Given the description of an element on the screen output the (x, y) to click on. 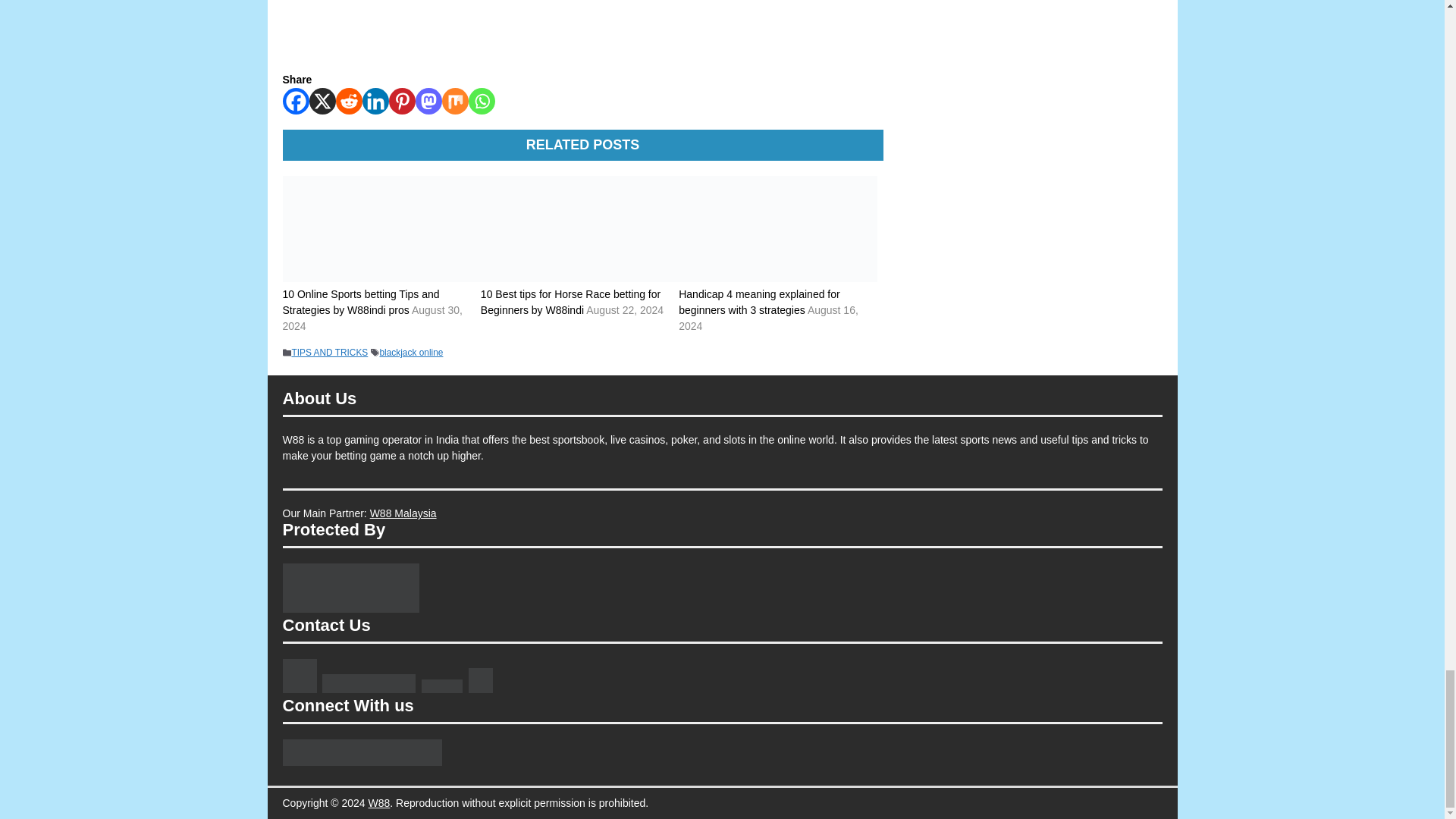
Linkedin (375, 100)
Reddit (347, 100)
Mastodon (428, 100)
Facebook (295, 100)
Pinterest (401, 100)
X (322, 100)
